Given the description of an element on the screen output the (x, y) to click on. 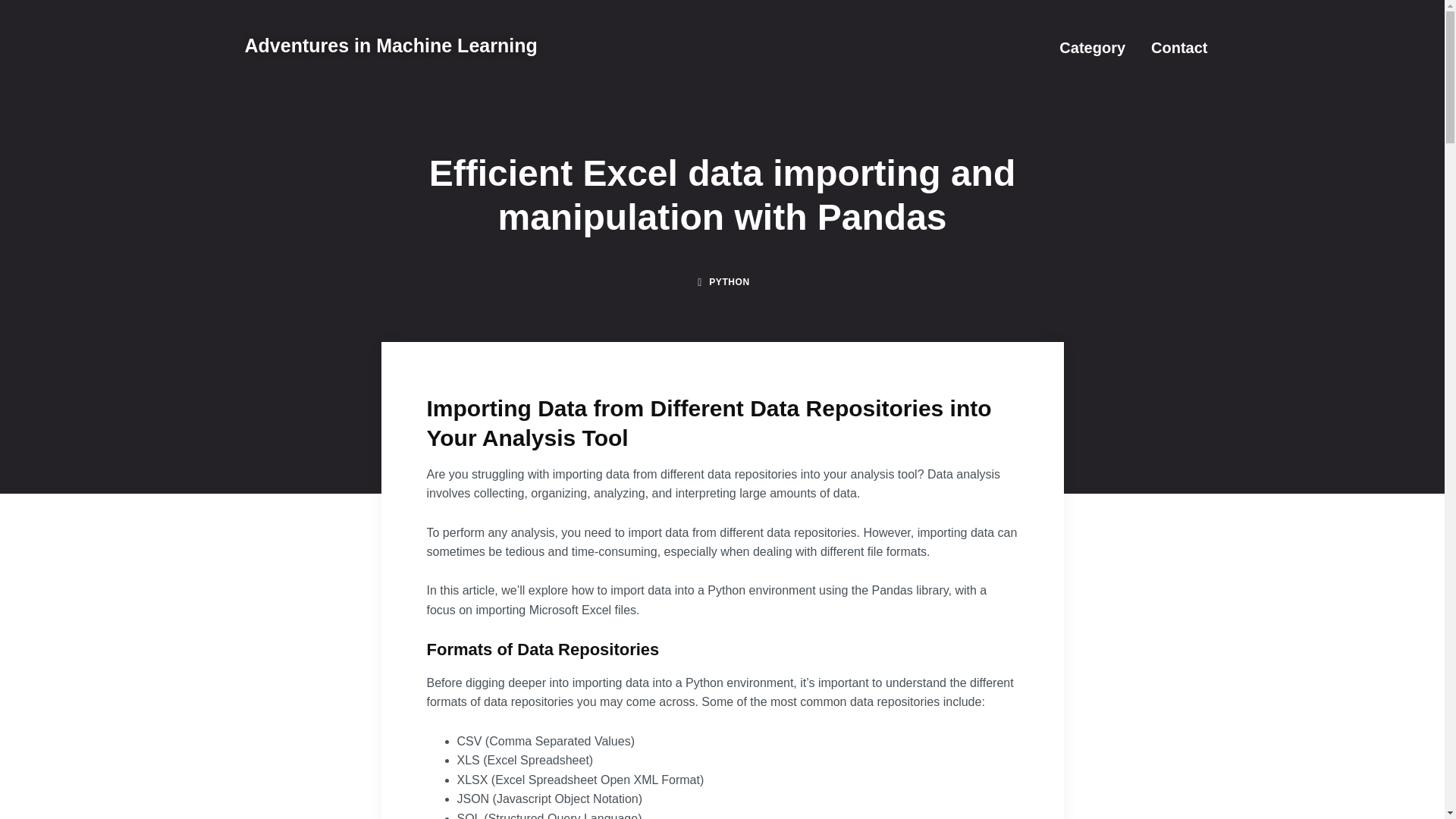
Contact (1179, 47)
Category (1092, 47)
PYTHON (729, 281)
Adventures in Machine Learning (390, 45)
